Given the description of an element on the screen output the (x, y) to click on. 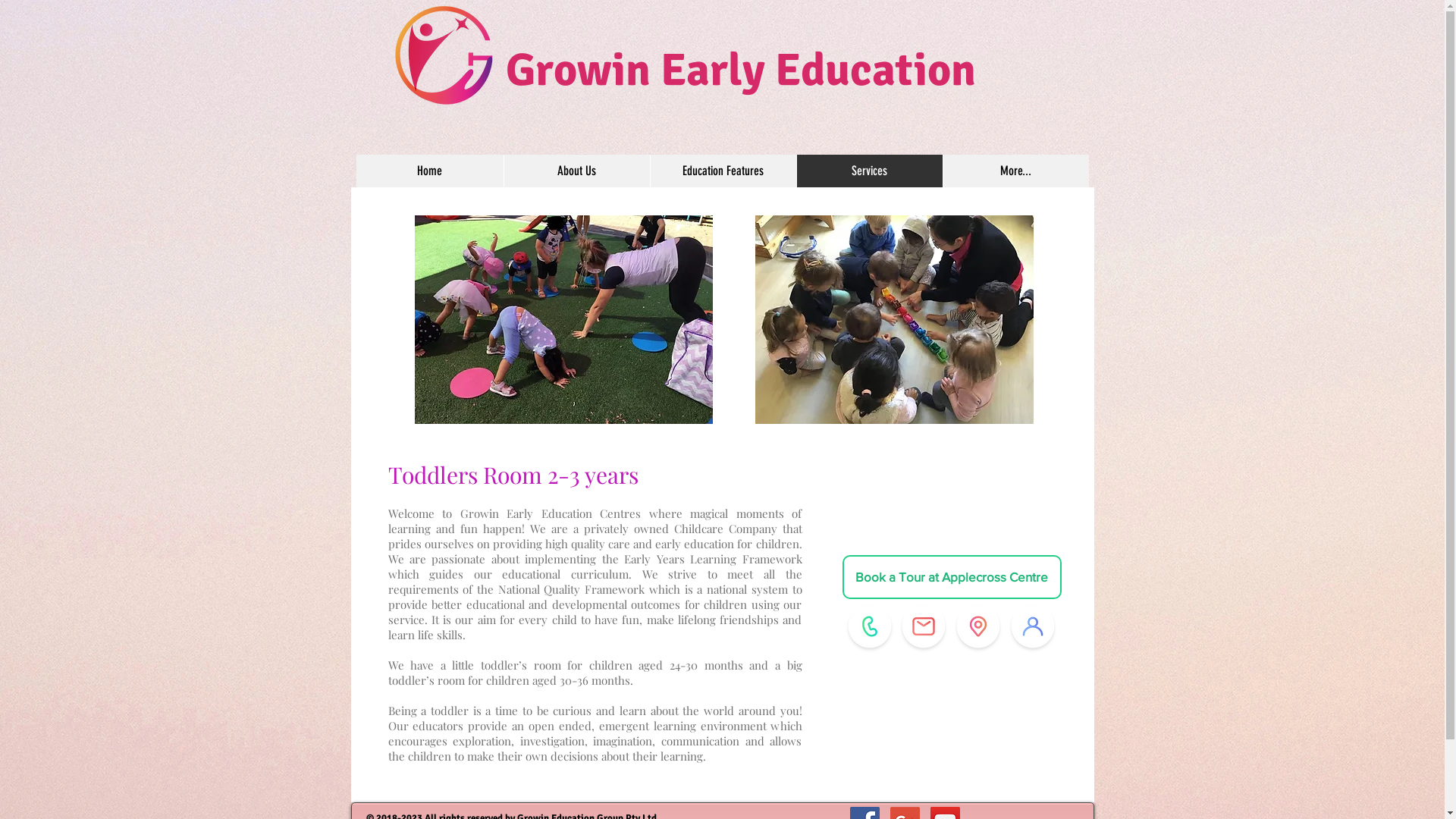
Education Features Element type: text (722, 170)
Book a Tour at Applecross Centre Element type: text (950, 577)
Learning about Colours! Element type: hover (894, 319)
Services Element type: text (869, 170)
IMG_6447.JPG Element type: hover (563, 319)
Home Element type: text (429, 170)
About Us Element type: text (576, 170)
